Given the description of an element on the screen output the (x, y) to click on. 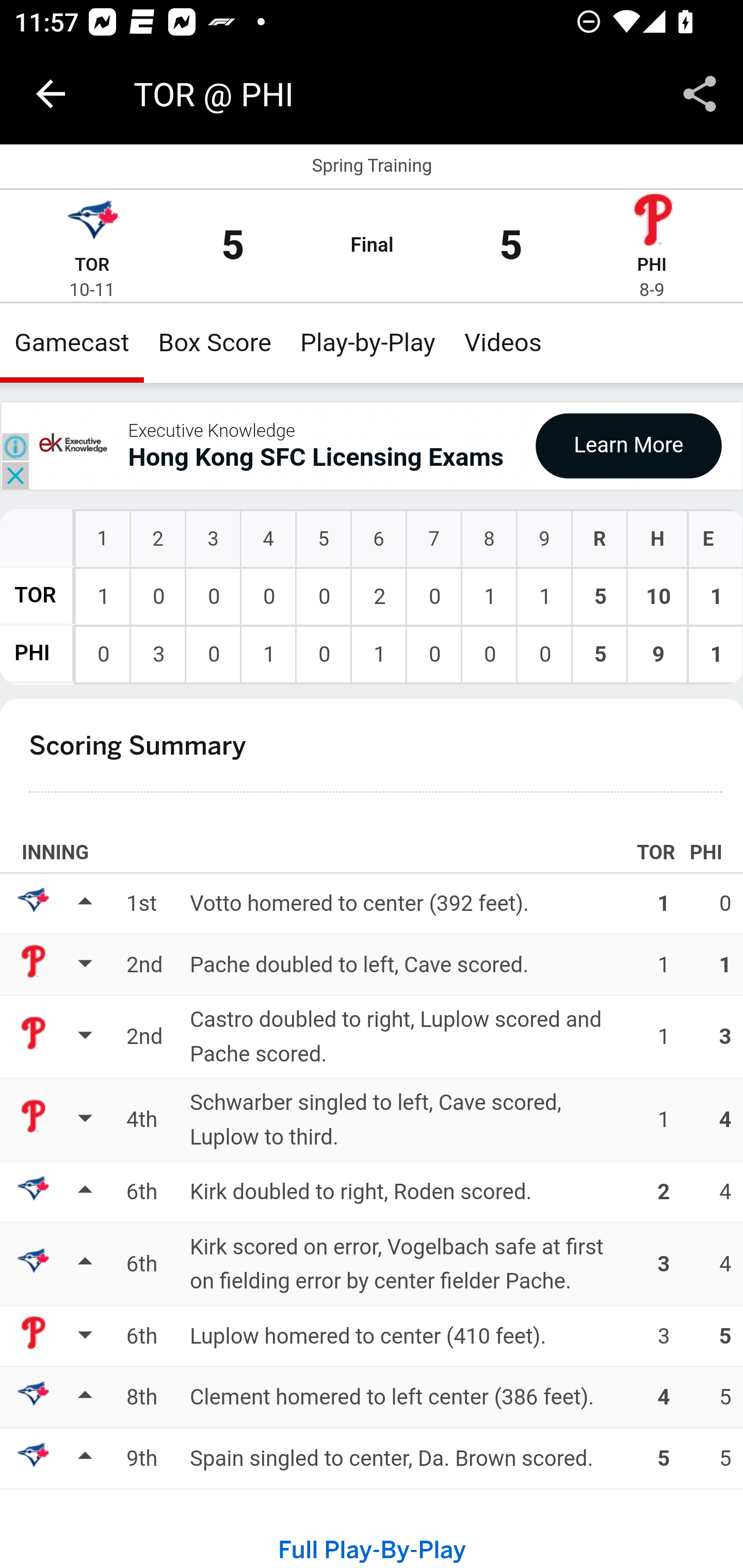
Navigate up (50, 93)
Share (699, 93)
Toronto Blue Jays (91, 221)
Philadelphia Phillies (651, 221)
TOR (91, 264)
PHI (651, 264)
Gamecast (72, 342)
Box Score (214, 342)
Play-by-Play (368, 342)
Videos (502, 342)
Learn More (628, 445)
Executive Knowledge (211, 430)
Hong Kong SFC Licensing Exams (315, 457)
TOR (35, 595)
PHI (32, 653)
Full Play-By-Play (371, 1550)
